Given the description of an element on the screen output the (x, y) to click on. 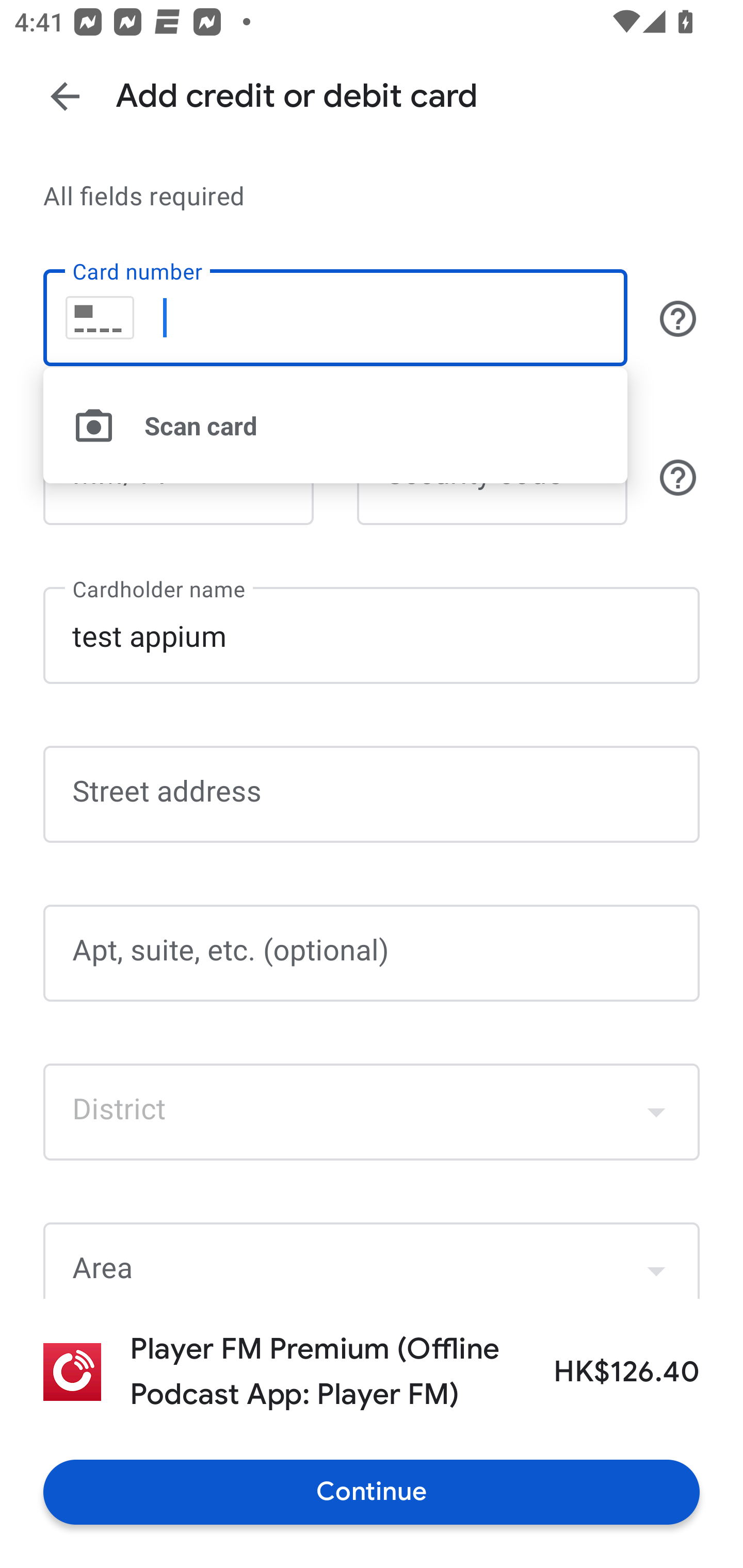
Back (64, 96)
Card number (335, 317)
Button, shows cards that are accepted for payment (677, 318)
Security code help (677, 477)
test appium (371, 634)
Street address (371, 794)
Apt, suite, etc. (optional) (371, 952)
District (371, 1111)
Show dropdown menu (655, 1112)
Area (371, 1260)
Show dropdown menu (655, 1262)
Continue (371, 1491)
